Given the description of an element on the screen output the (x, y) to click on. 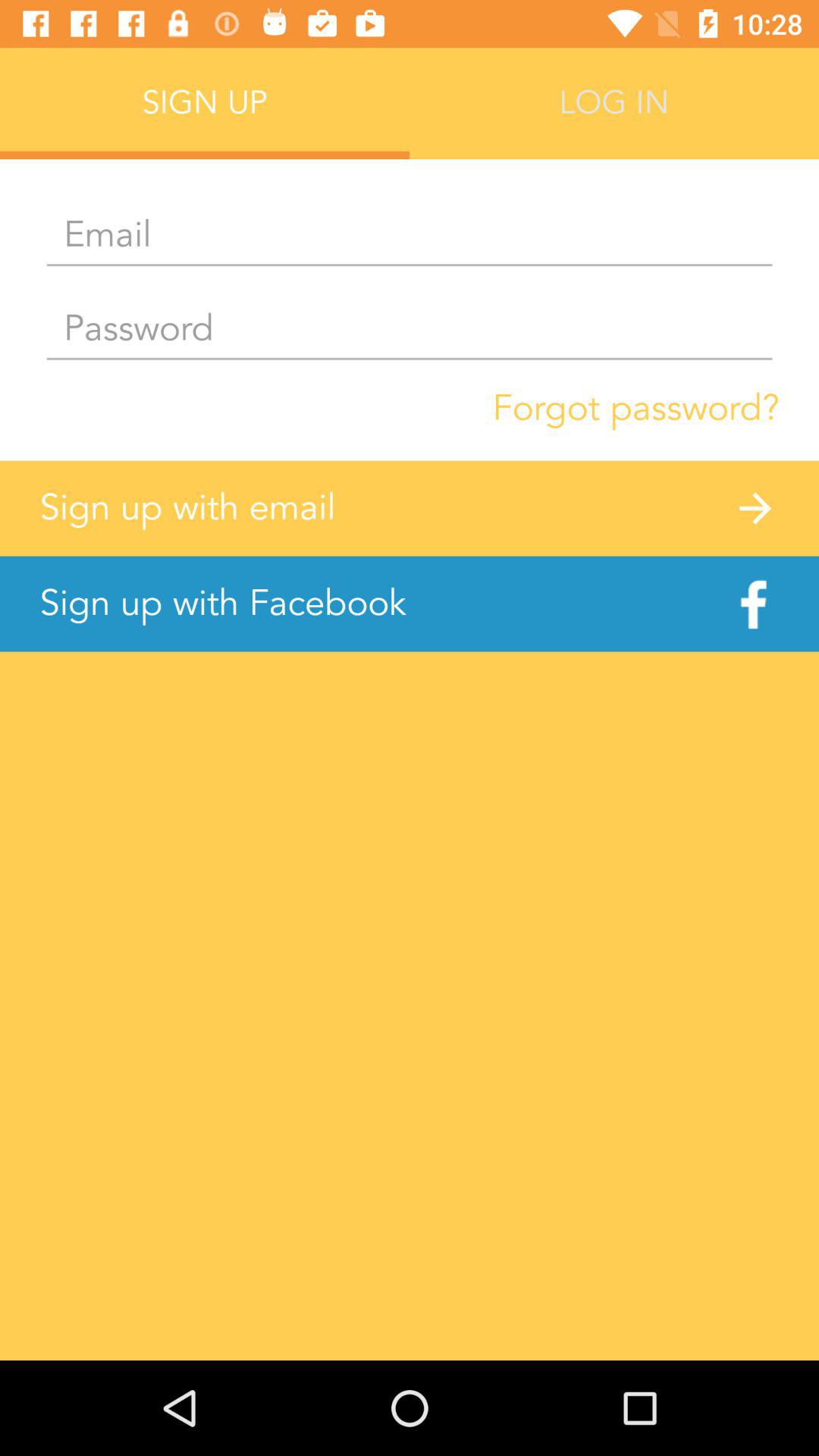
click the forgot password? (635, 408)
